Given the description of an element on the screen output the (x, y) to click on. 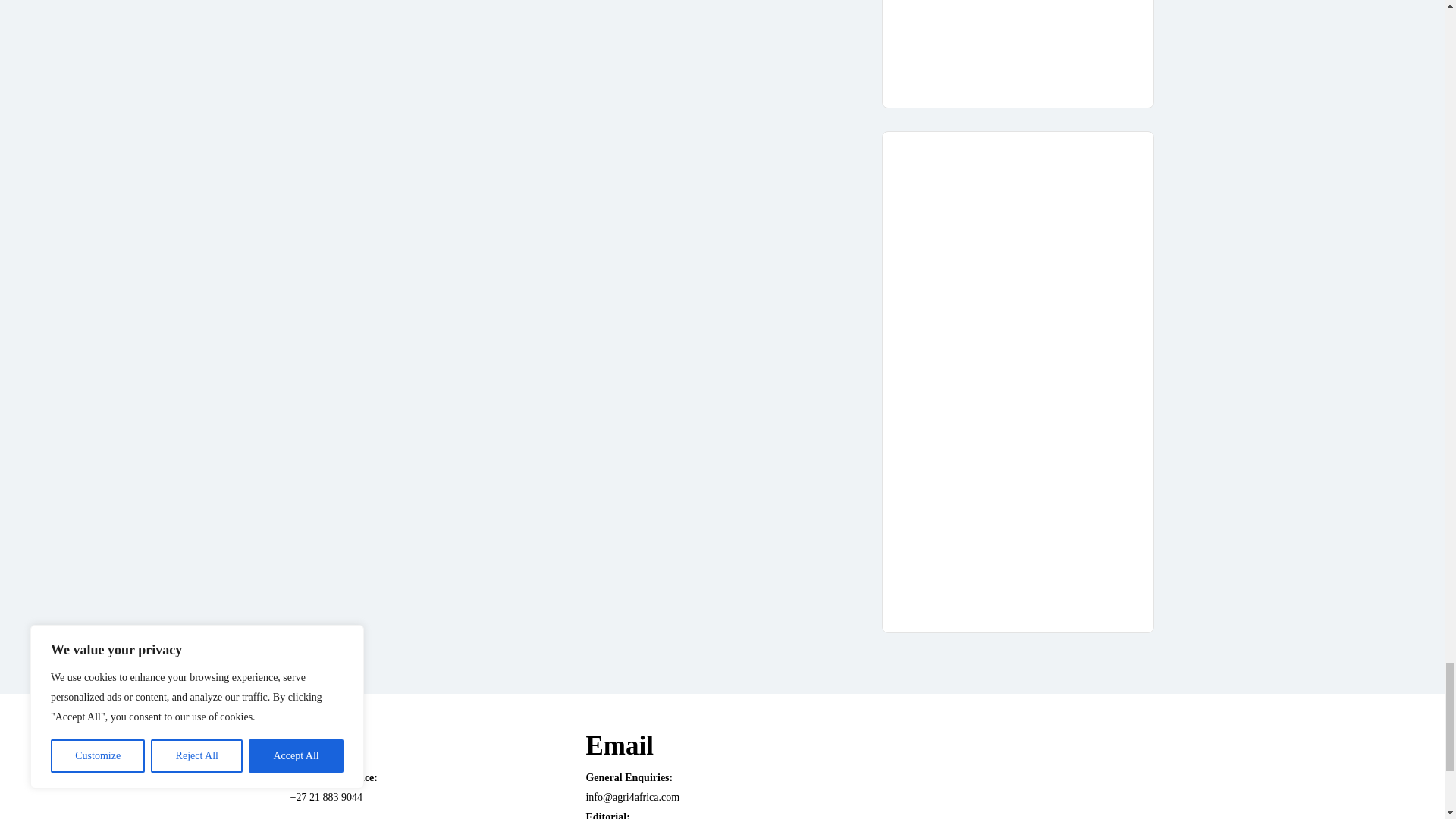
Advertisement (1018, 42)
